Given the description of an element on the screen output the (x, y) to click on. 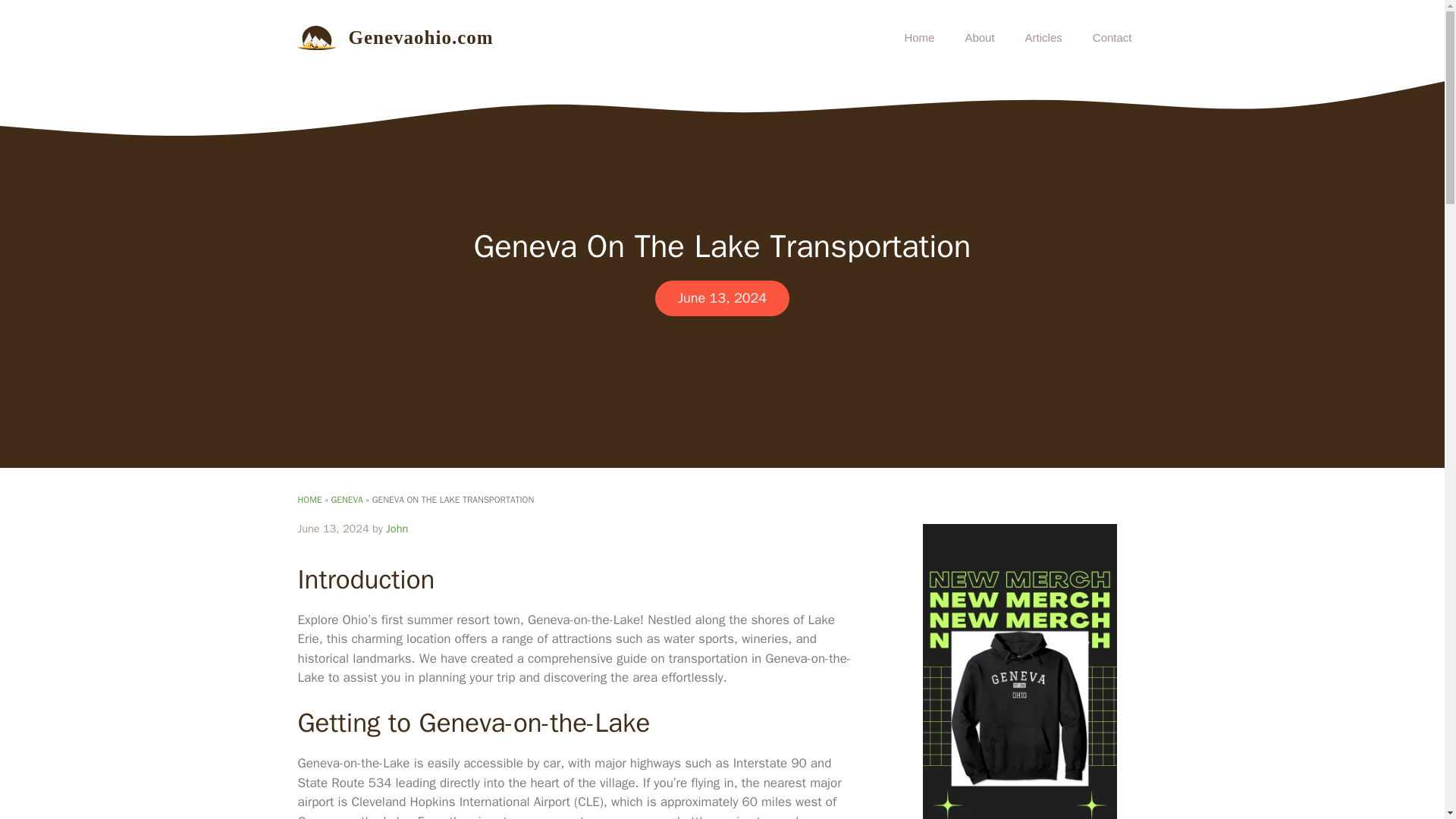
Genevaohio.com (421, 37)
HOME (309, 500)
Articles (1043, 37)
About (979, 37)
GENEVA (346, 500)
Contact (1112, 37)
Home (918, 37)
John (396, 528)
View all posts by John (396, 528)
